Given the description of an element on the screen output the (x, y) to click on. 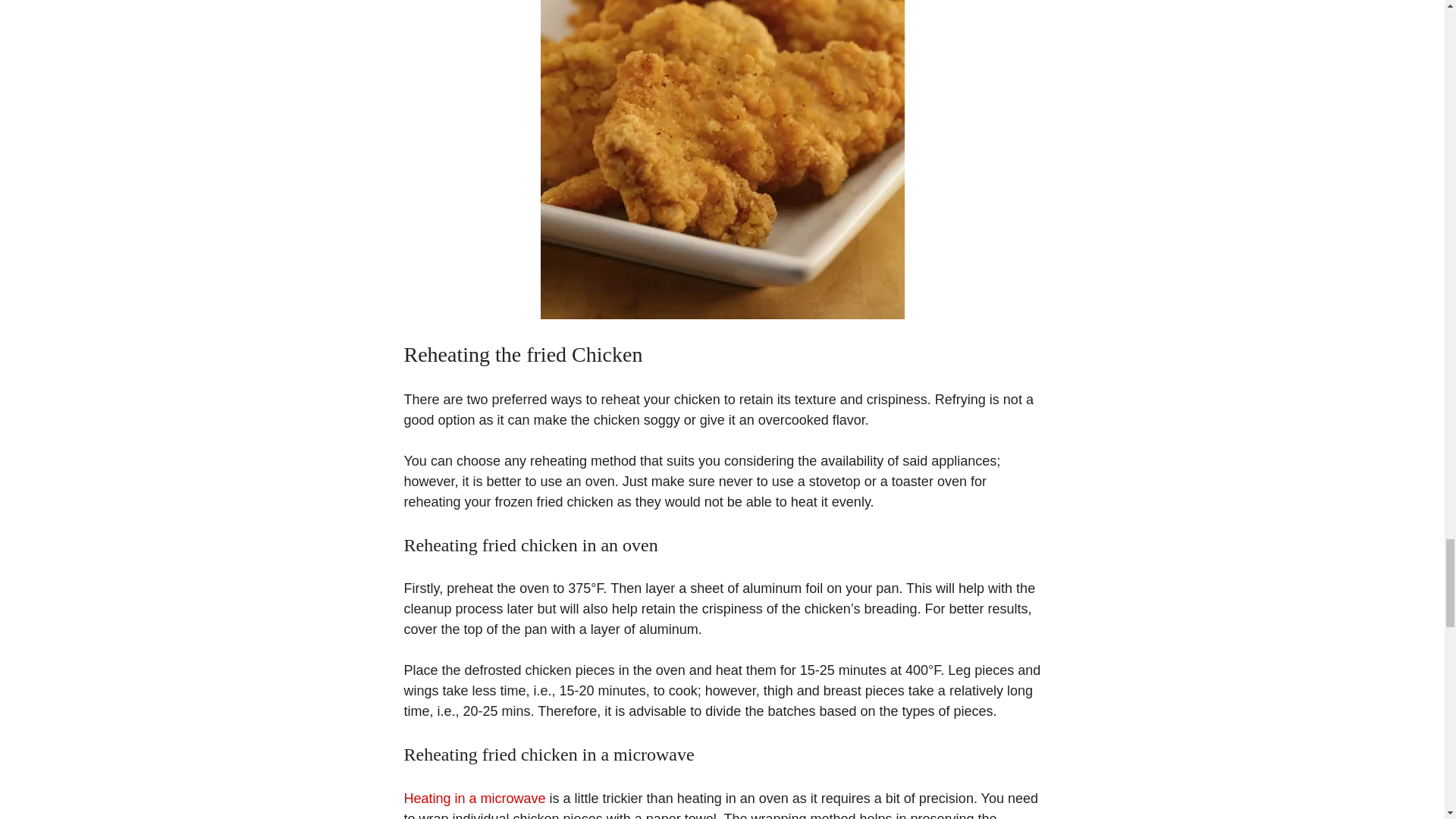
Heating in a microwave (473, 798)
